Given the description of an element on the screen output the (x, y) to click on. 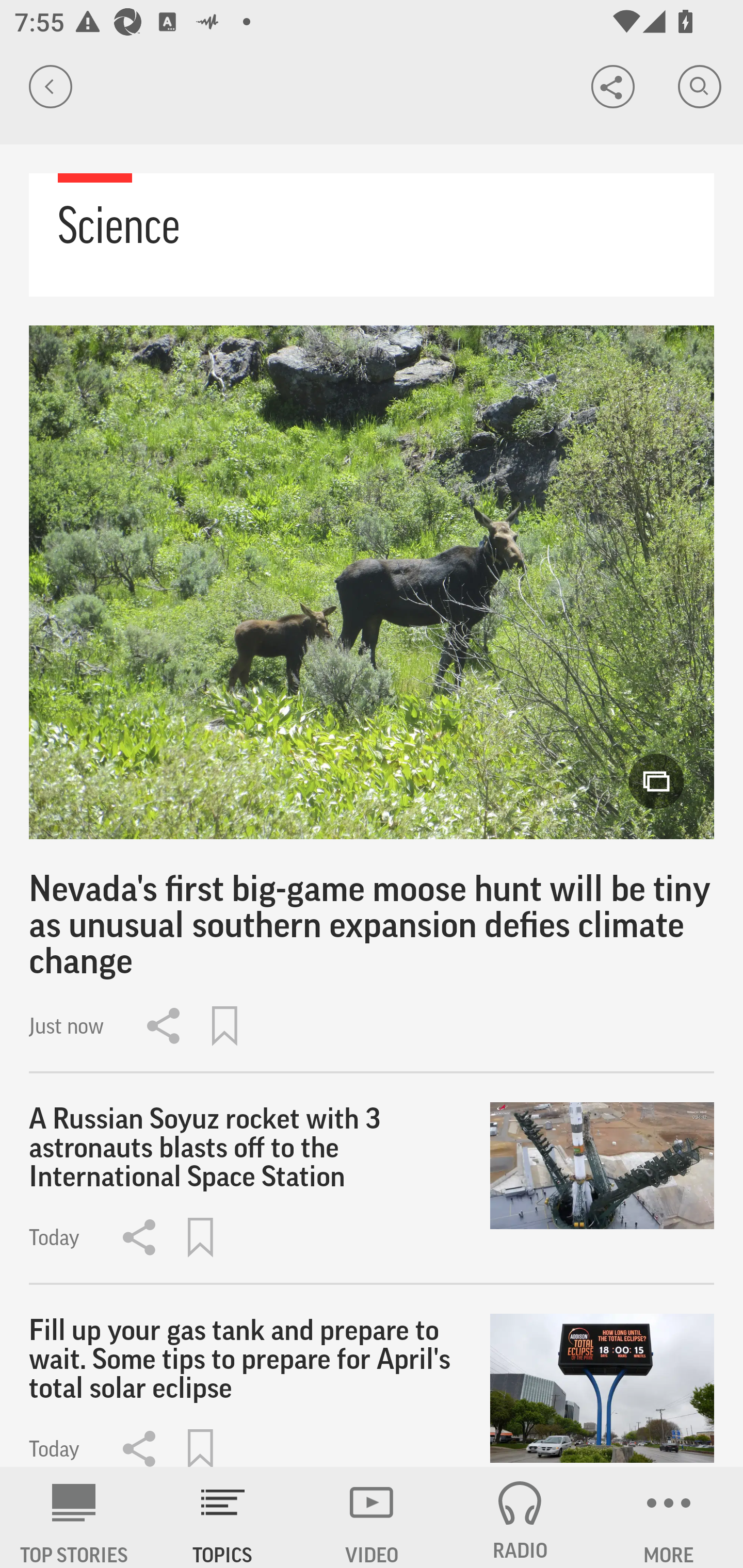
AP News TOP STORIES (74, 1517)
TOPICS (222, 1517)
VIDEO (371, 1517)
RADIO (519, 1517)
MORE (668, 1517)
